Given the description of an element on the screen output the (x, y) to click on. 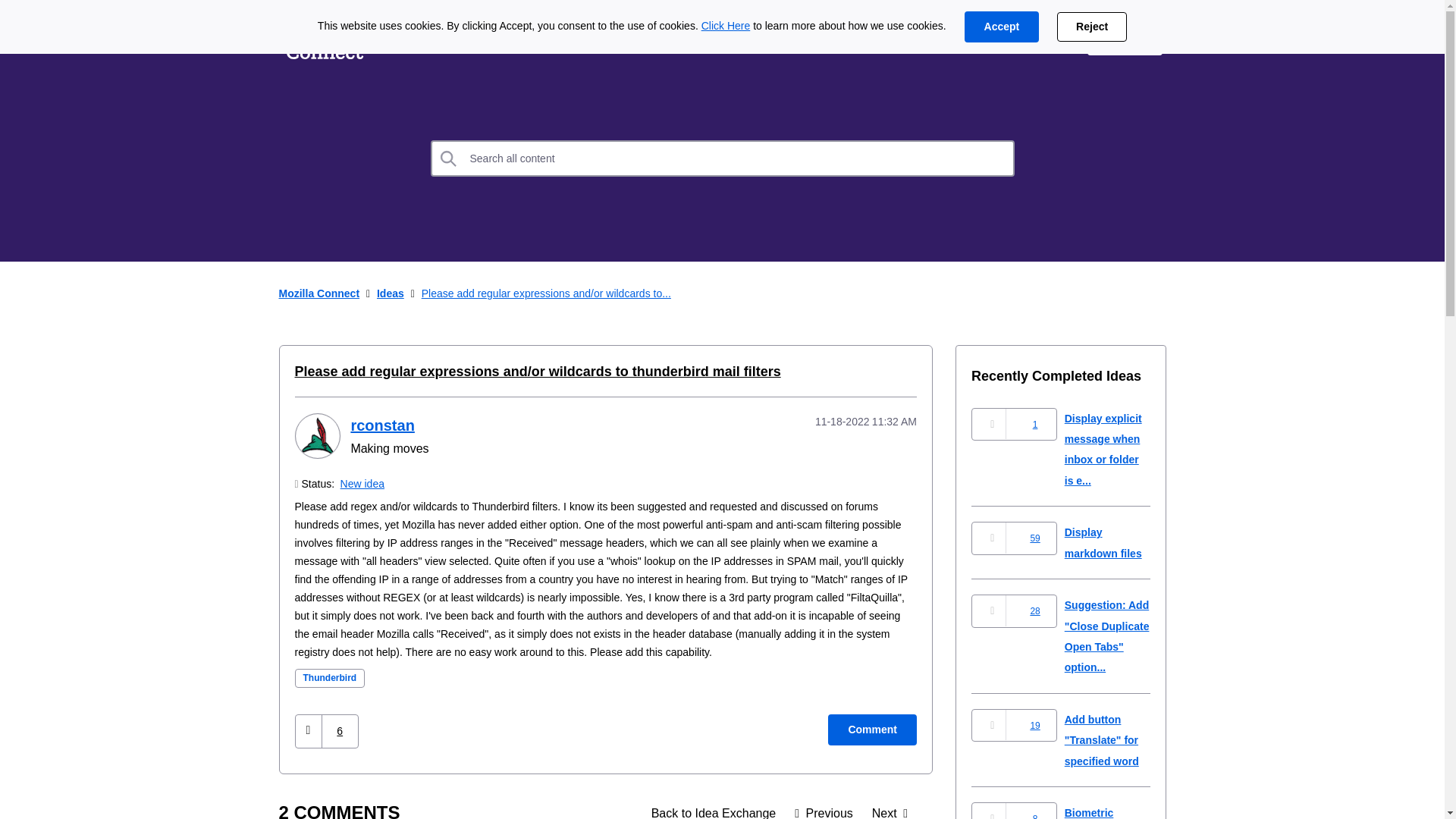
Ideas (390, 293)
Search (448, 158)
Thunderbird (329, 678)
Comment (872, 729)
New idea (362, 483)
Community (607, 39)
Search (448, 158)
Click Here (726, 25)
6 (339, 730)
Search (448, 158)
Mozilla Connect (319, 293)
Ideas (714, 809)
Sign In (1124, 39)
Back to Idea Exchange (714, 809)
Support (1040, 39)
